Given the description of an element on the screen output the (x, y) to click on. 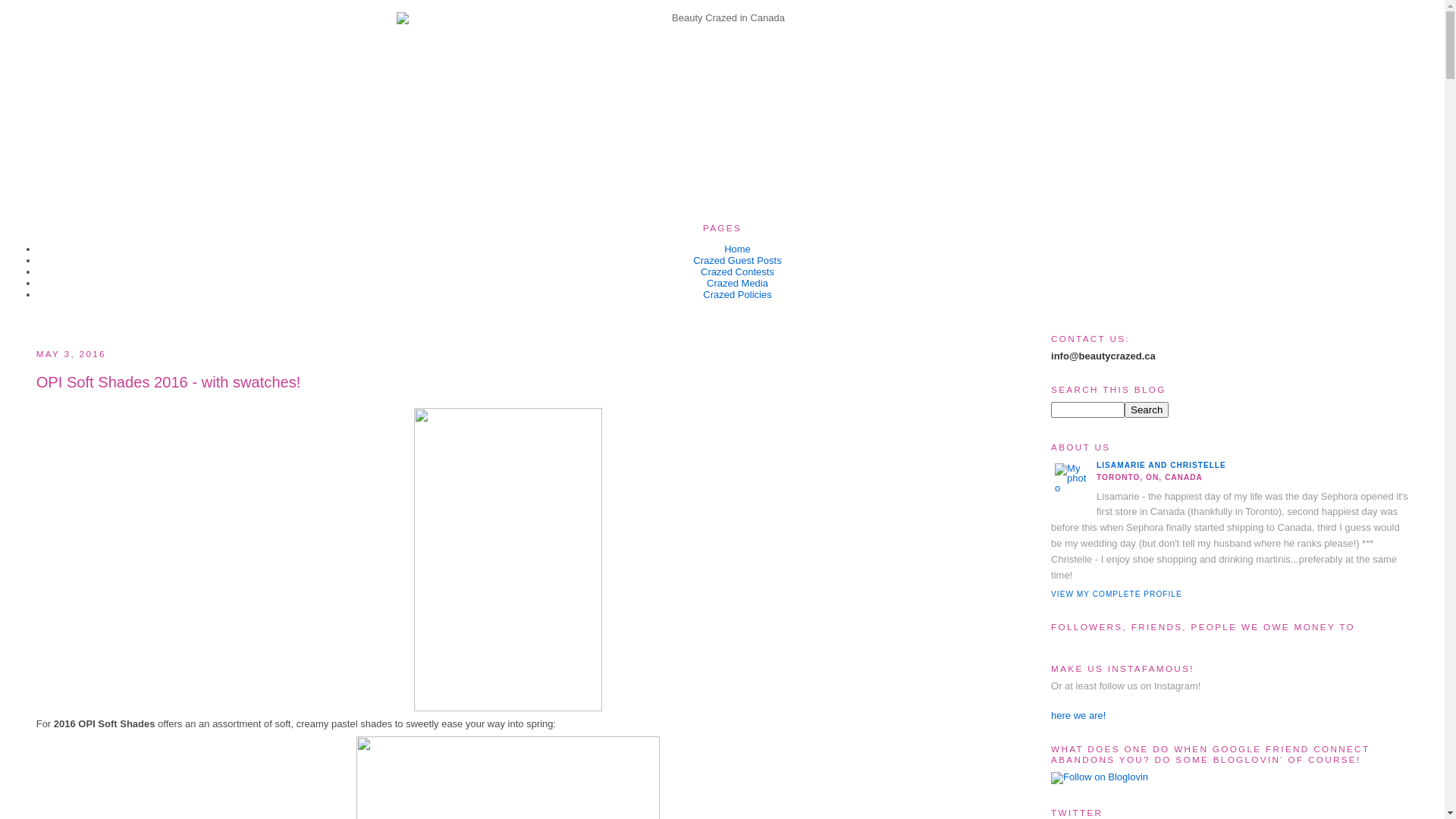
Crazed Media Element type: text (737, 282)
search Element type: hover (1146, 409)
Search Element type: text (1146, 409)
VIEW MY COMPLETE PROFILE Element type: text (1116, 593)
Crazed Guest Posts Element type: text (737, 260)
Crazed Contests Element type: text (737, 271)
Follow Beauty Crazed in Canada on Bloglovin Element type: hover (1099, 776)
Crazed Policies Element type: text (736, 294)
LISAMARIE AND CHRISTELLE Element type: text (1161, 465)
here we are! Element type: text (1078, 715)
OPI Soft Shades 2016 - with swatches! Element type: text (507, 382)
search Element type: hover (1087, 409)
Home Element type: text (737, 248)
